Given the description of an element on the screen output the (x, y) to click on. 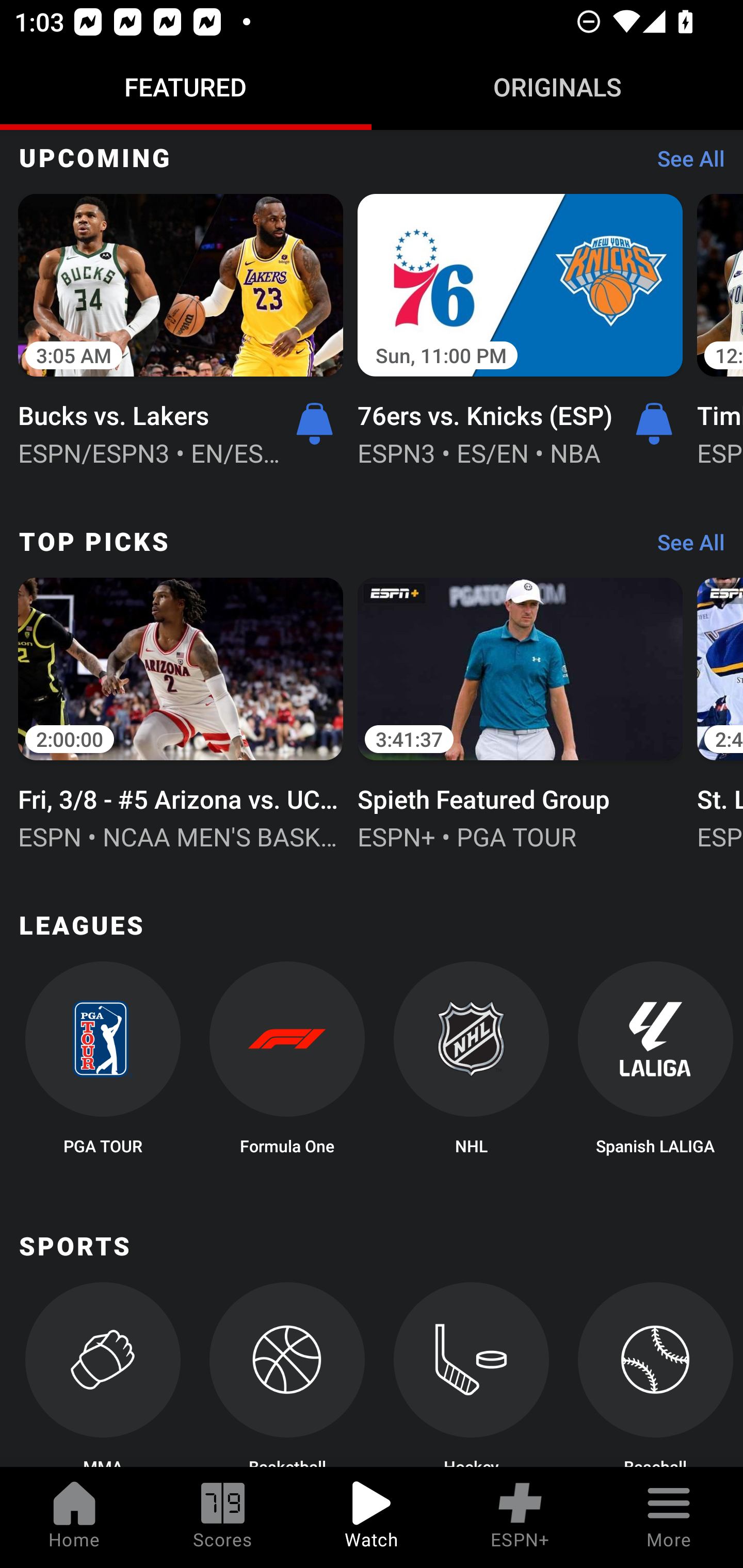
Originals ORIGINALS (557, 86)
See All (683, 162)
See All (683, 546)
3:41:37 Spieth Featured Group ESPN+ • PGA TOUR (519, 711)
PGA TOUR (102, 1063)
Formula One (286, 1063)
NHL (471, 1063)
Spanish LALIGA (655, 1063)
MMA (102, 1374)
Basketball (286, 1374)
Hockey (471, 1374)
Baseball (655, 1374)
Home (74, 1517)
Scores (222, 1517)
ESPN+ (519, 1517)
More (668, 1517)
